Given the description of an element on the screen output the (x, y) to click on. 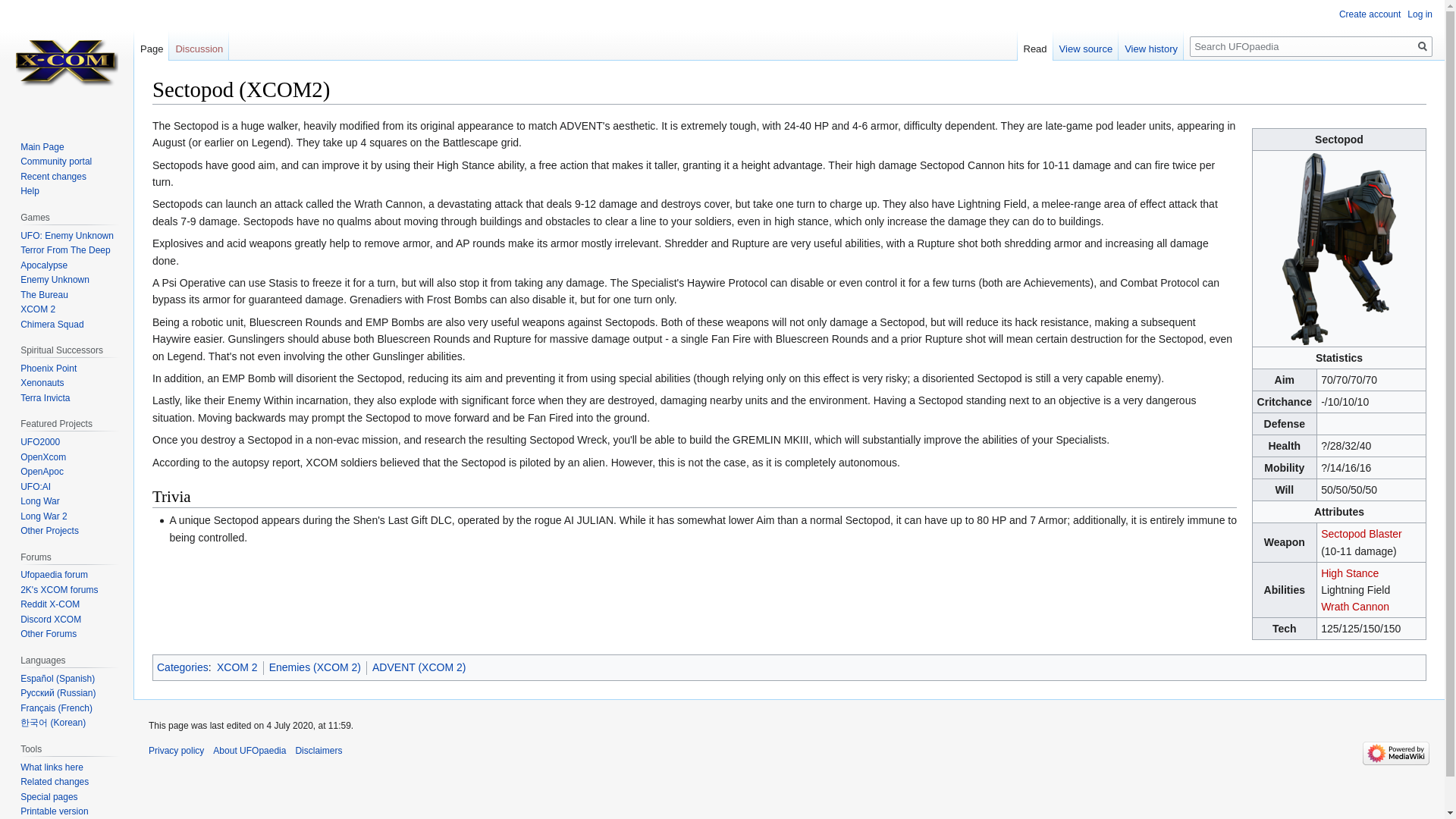
Recent changes (52, 176)
Visit the main page (66, 60)
UFO: Enemy Unknown (66, 235)
Apocalypse (43, 265)
Search the pages for this text (1422, 46)
Create account (1369, 14)
Page (150, 45)
Terra Invicta (44, 398)
Search (1422, 46)
